Given the description of an element on the screen output the (x, y) to click on. 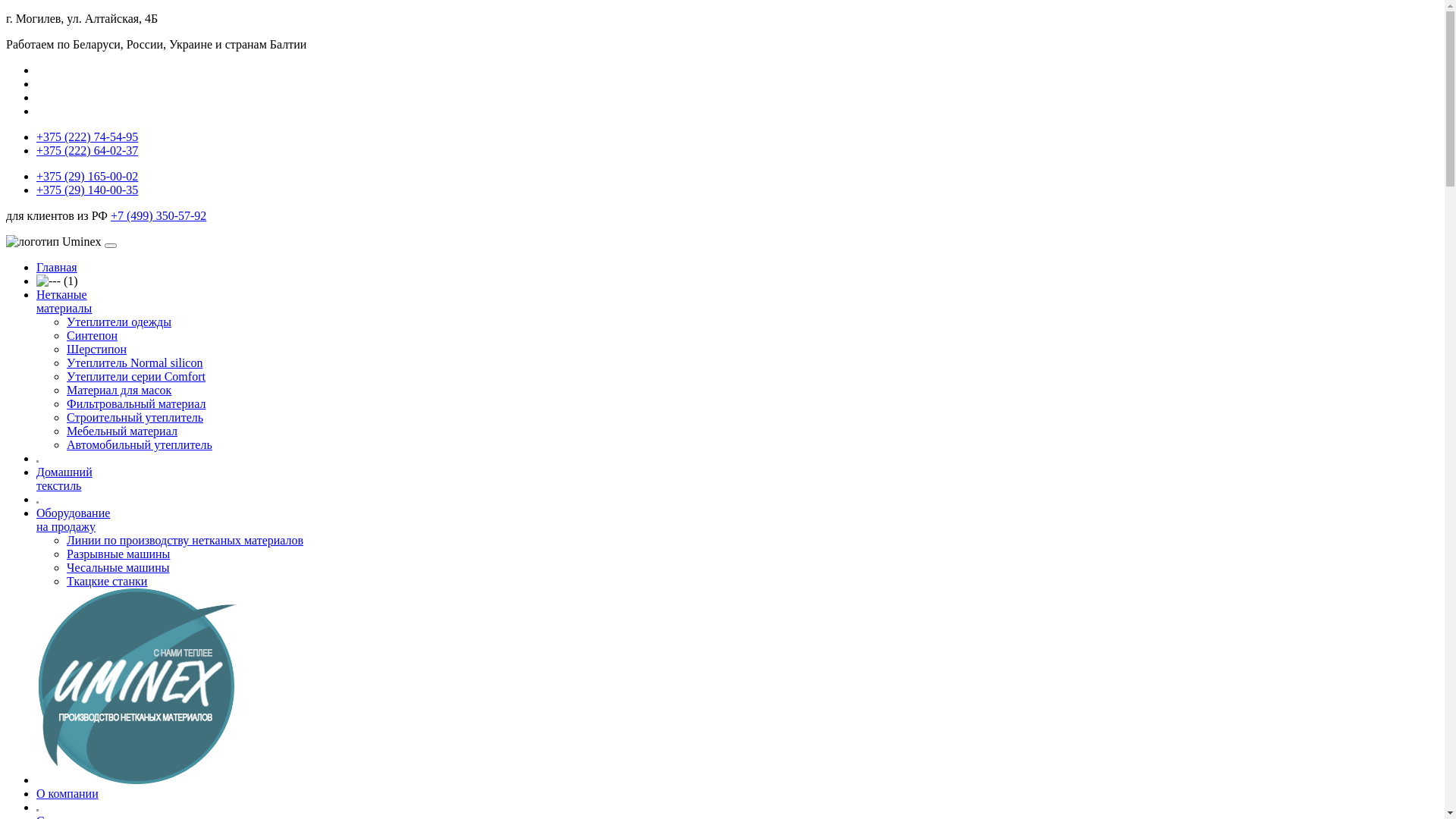
+375 (29) 140-00-35 Element type: text (87, 189)
+375 (29) 165-00-02 Element type: text (87, 175)
+7 (499) 350-57-92 Element type: text (158, 215)
+375 (222) 64-02-37 Element type: text (87, 150)
+375 (222) 74-54-95 Element type: text (87, 136)
